Given the description of an element on the screen output the (x, y) to click on. 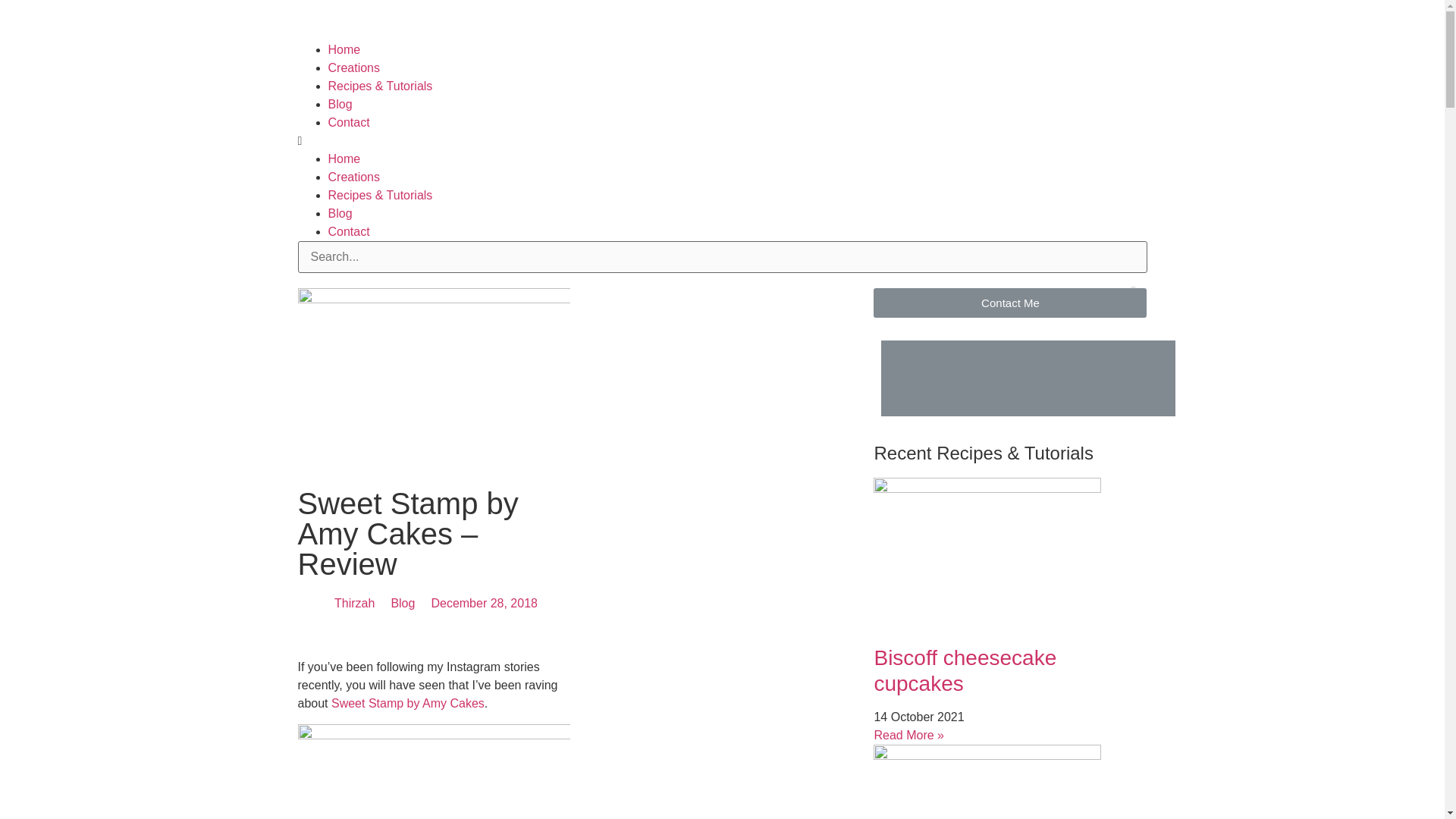
Search (722, 256)
Thirzah (352, 603)
Creations (352, 67)
Home (343, 158)
Sweet Stamp by Amy Cakes (407, 703)
Blog (402, 603)
Home (343, 49)
Contact Me (1010, 302)
December 28, 2018 (481, 603)
Contact (348, 231)
Blog (339, 103)
Blog (339, 213)
Creations (352, 176)
Contact (348, 122)
Biscoff cheesecake cupcakes (965, 670)
